Given the description of an element on the screen output the (x, y) to click on. 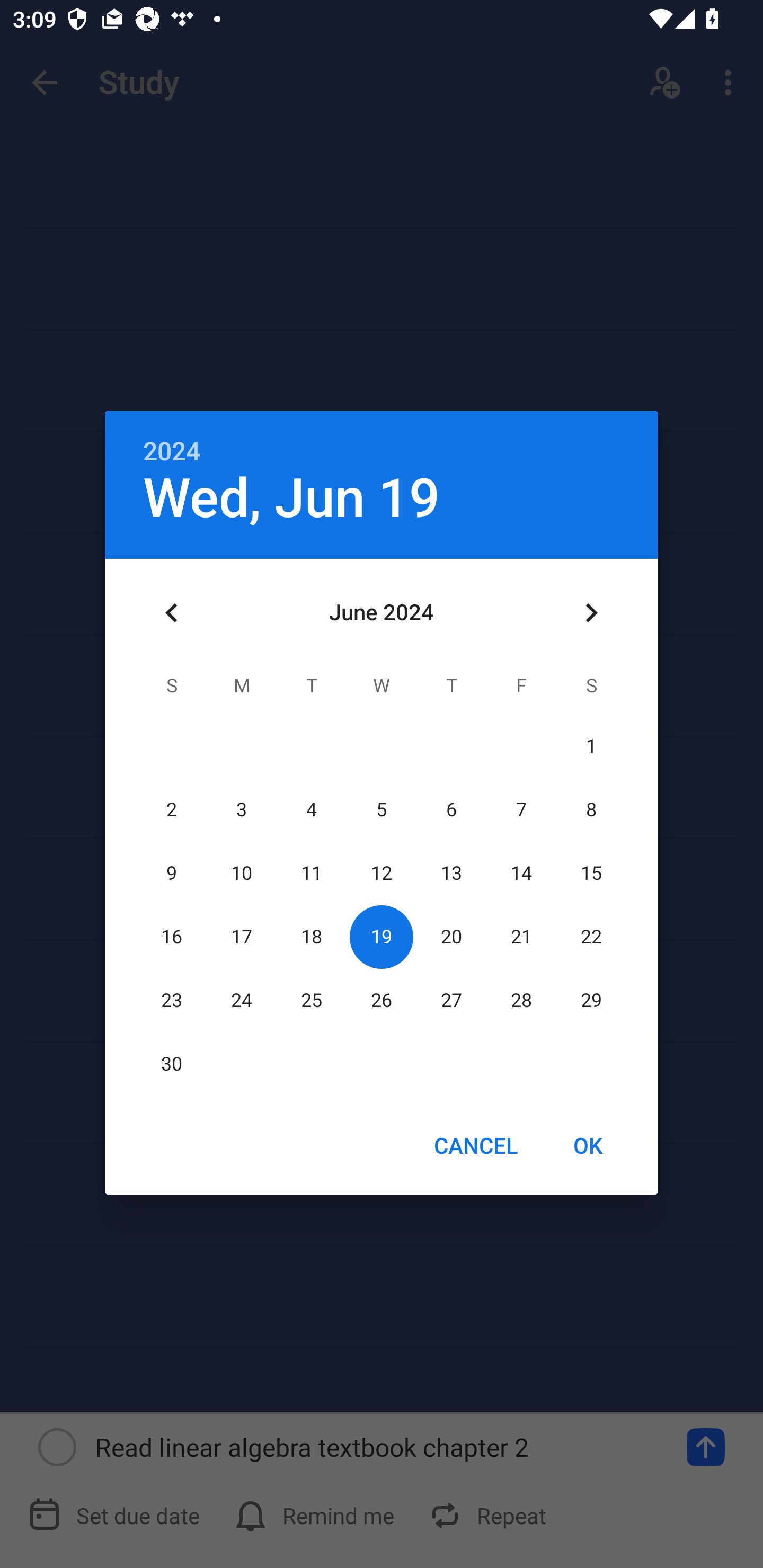
25 25 June 2024 (311, 1000)
